Given the description of an element on the screen output the (x, y) to click on. 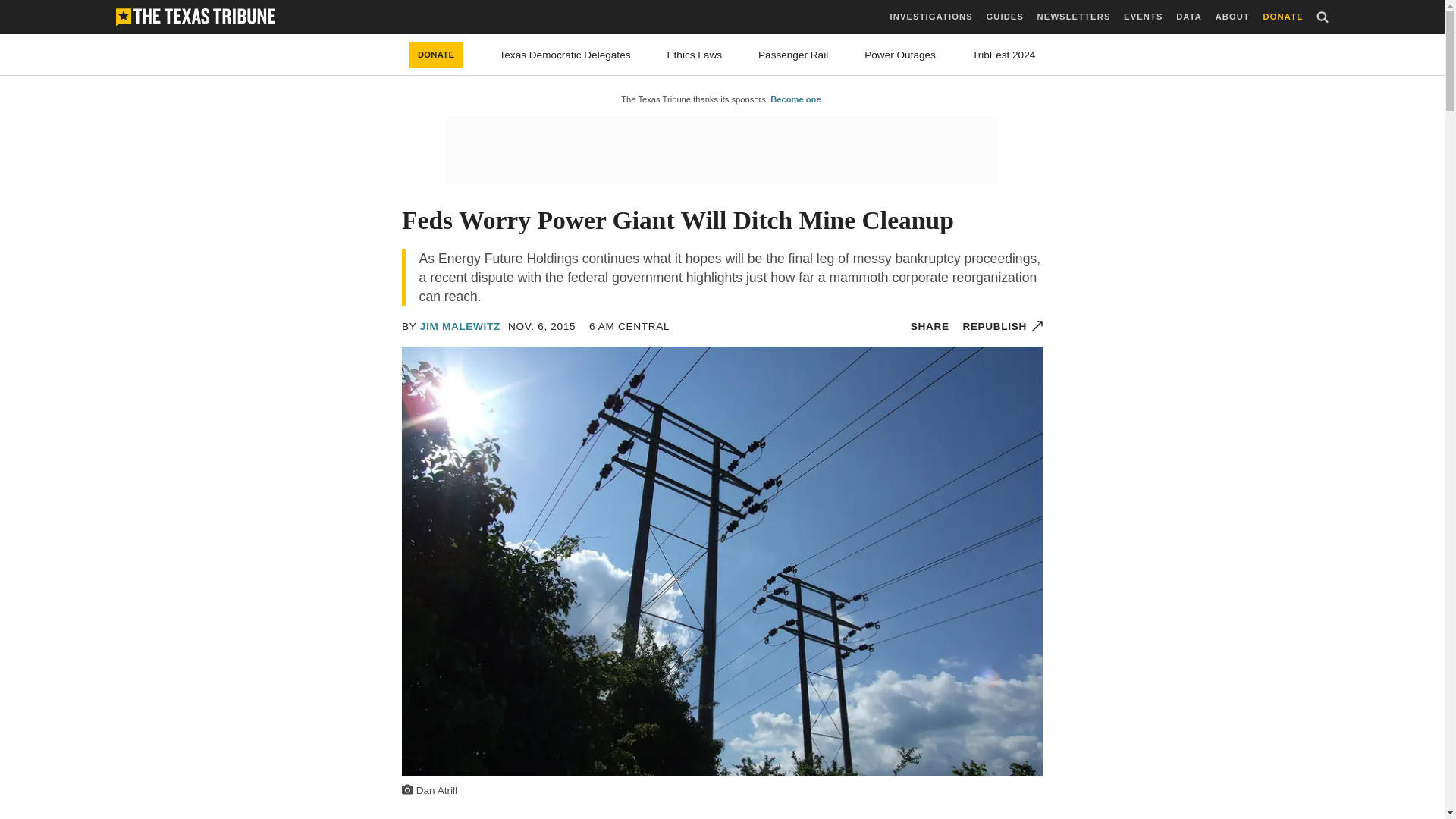
JIM MALEWITZ (460, 326)
GUIDES (1004, 17)
2015-11-06 06:00 CST (541, 326)
DATA (1189, 17)
Passenger Rail (793, 54)
Ethics Laws (694, 54)
2015-11-06 06:00 CST (629, 326)
DONATE (436, 54)
DONATE (1283, 17)
Become one (795, 99)
ABOUT (1232, 17)
EVENTS (1142, 17)
INVESTIGATIONS (930, 17)
REPUBLISH (1002, 326)
TribFest 2024 (1003, 54)
